Given the description of an element on the screen output the (x, y) to click on. 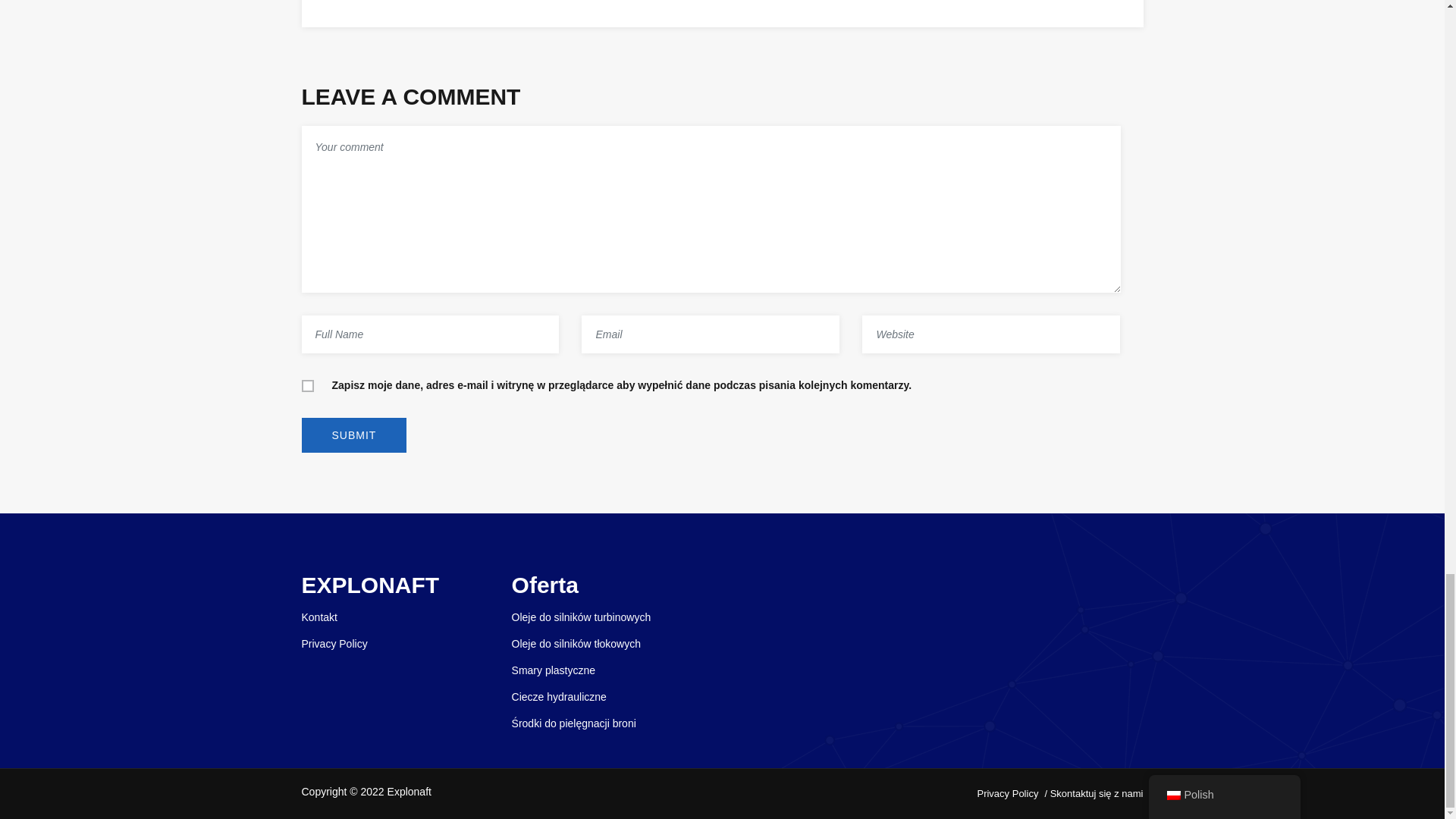
Submit (354, 434)
Ciecze hydrauliczne (559, 696)
Privacy Policy (1007, 793)
Privacy Policy (334, 644)
Kontakt (319, 616)
Submit (354, 434)
Smary plastyczne (553, 670)
